Given the description of an element on the screen output the (x, y) to click on. 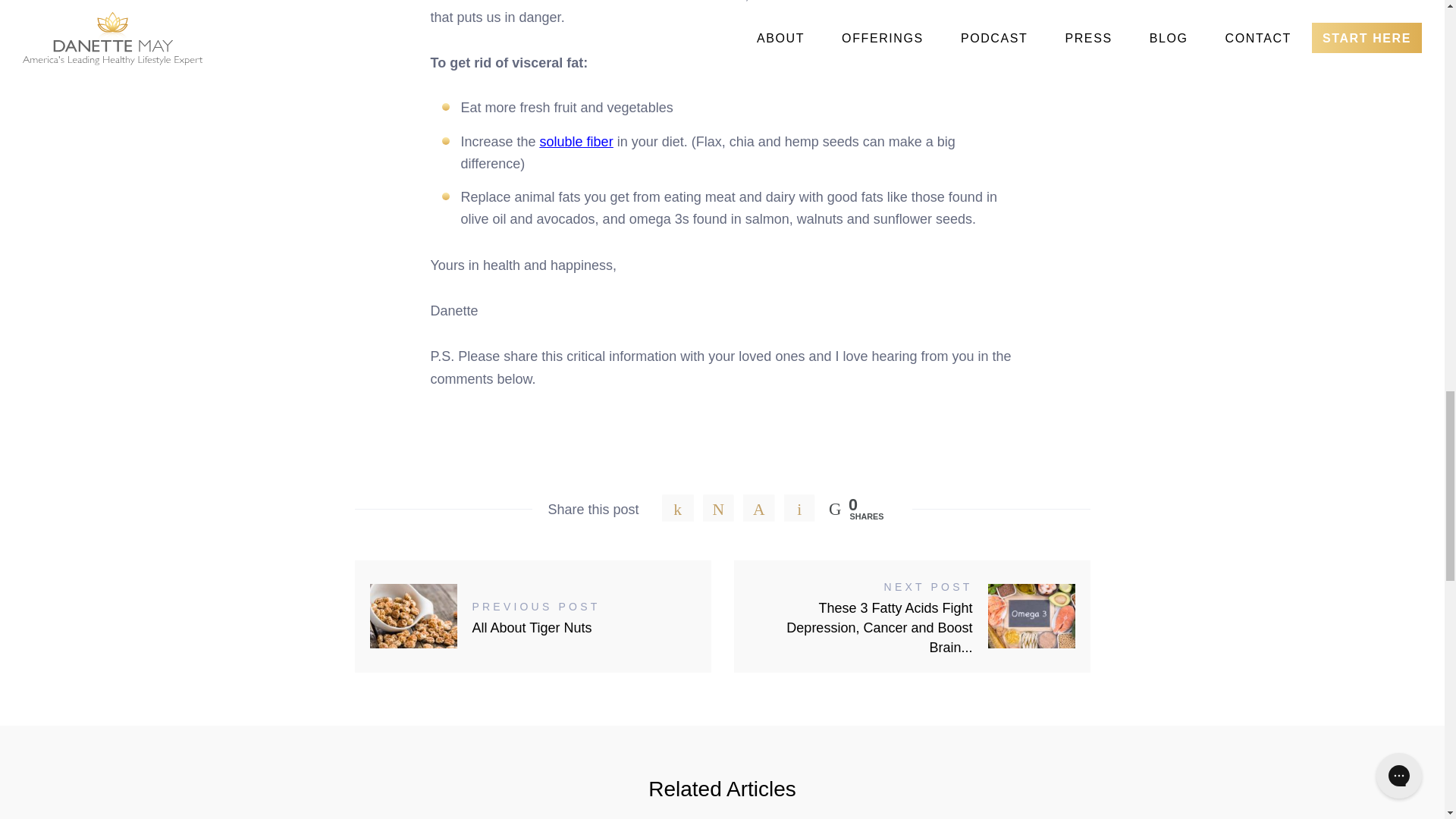
soluble fiber (533, 615)
